Given the description of an element on the screen output the (x, y) to click on. 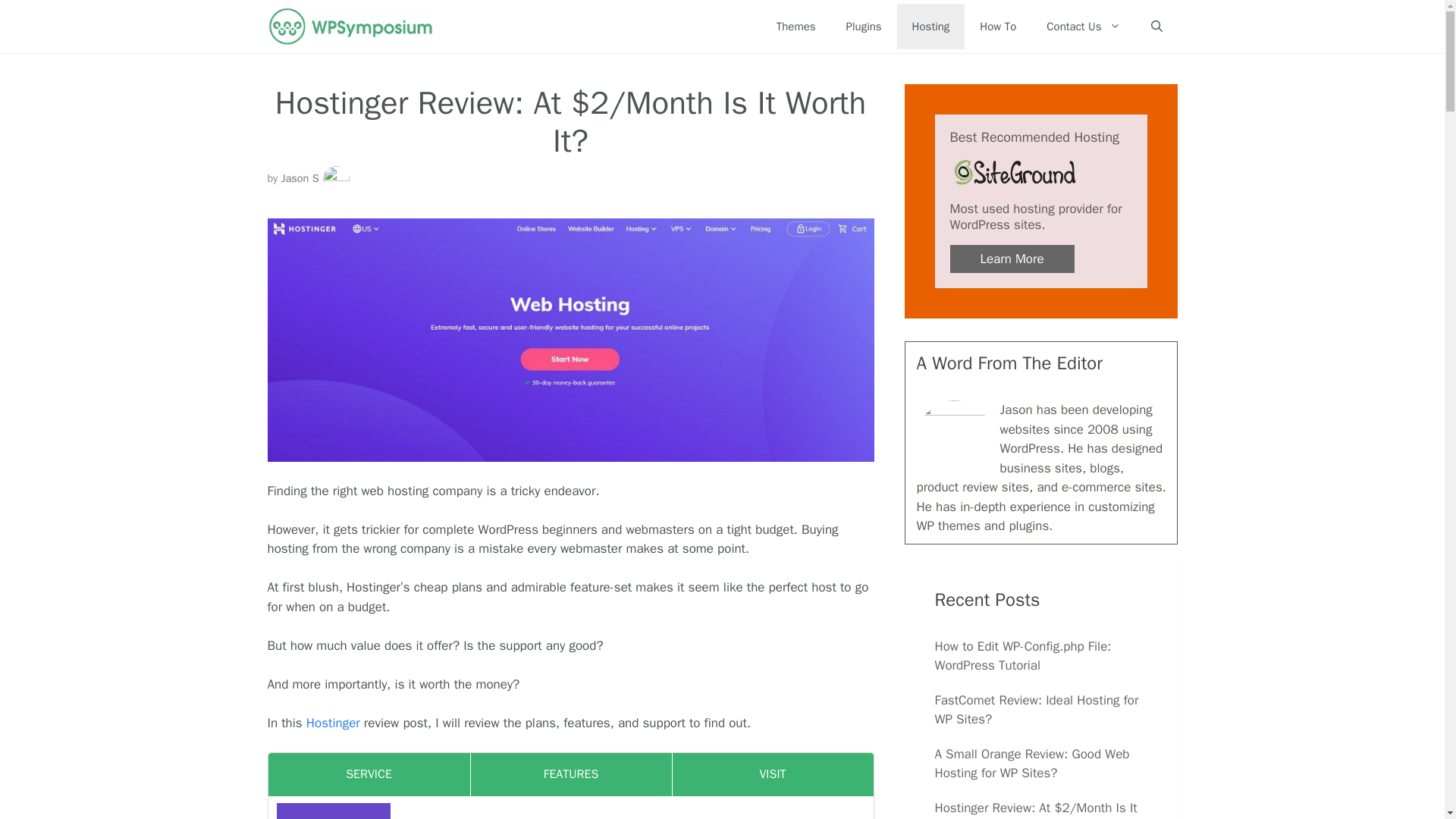
WPSymposium (349, 26)
WPSymposium (352, 26)
Plugins (863, 26)
How To (996, 26)
Themes (796, 26)
Jason S (299, 178)
Hosting (930, 26)
Hostinger (334, 722)
Contact Us (1082, 26)
View all posts by Jason S (299, 178)
